Given the description of an element on the screen output the (x, y) to click on. 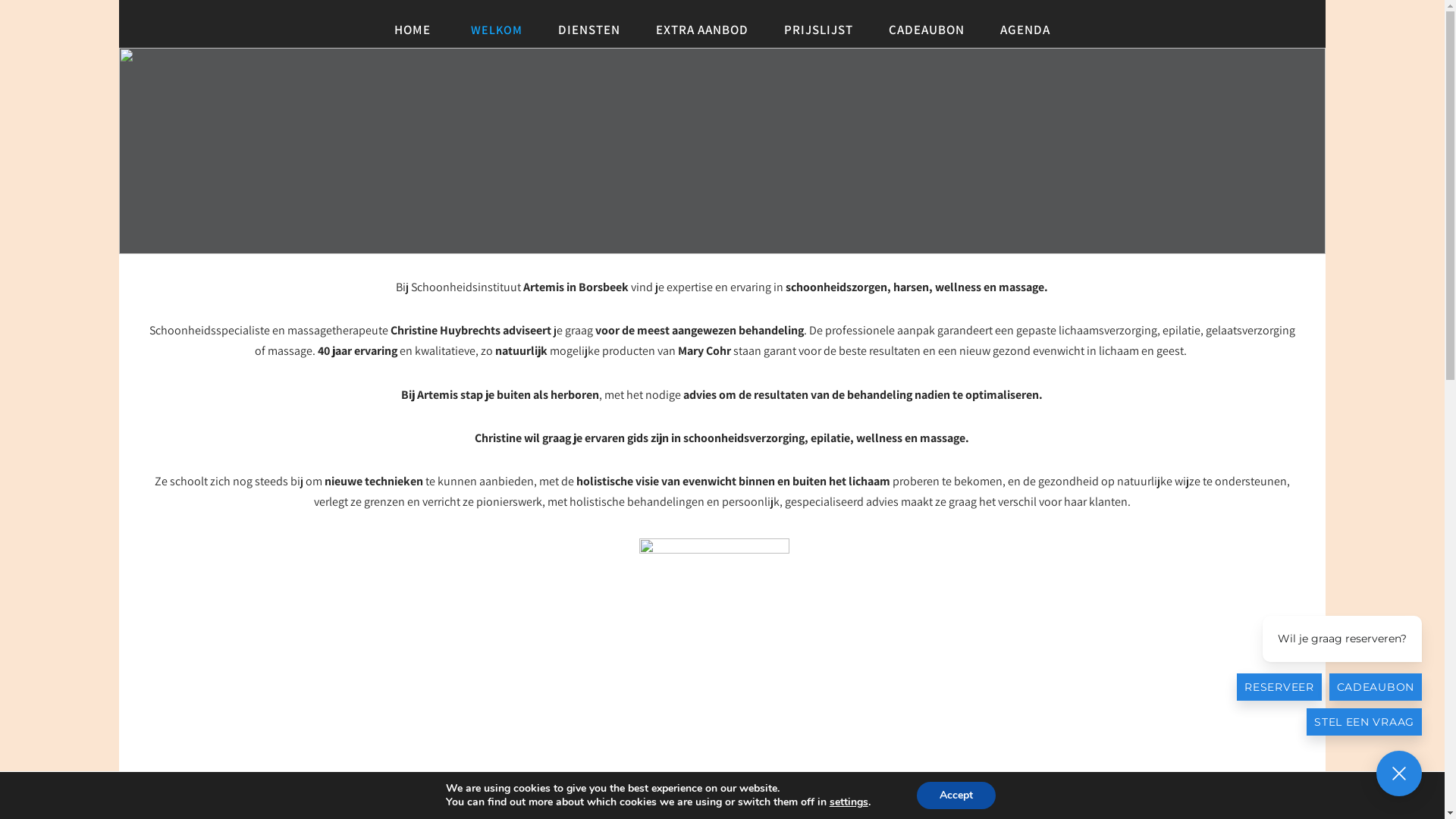
WELKOM Element type: text (494, 29)
CADEAUBON Element type: text (926, 29)
Accept Element type: text (955, 795)
AGENDA Element type: text (1024, 29)
HOME Element type: text (412, 29)
EXTRA AANBOD Element type: text (702, 29)
DIENSTEN Element type: text (589, 29)
settings Element type: text (848, 802)
PRIJSLIJST Element type: text (818, 29)
